Given the description of an element on the screen output the (x, y) to click on. 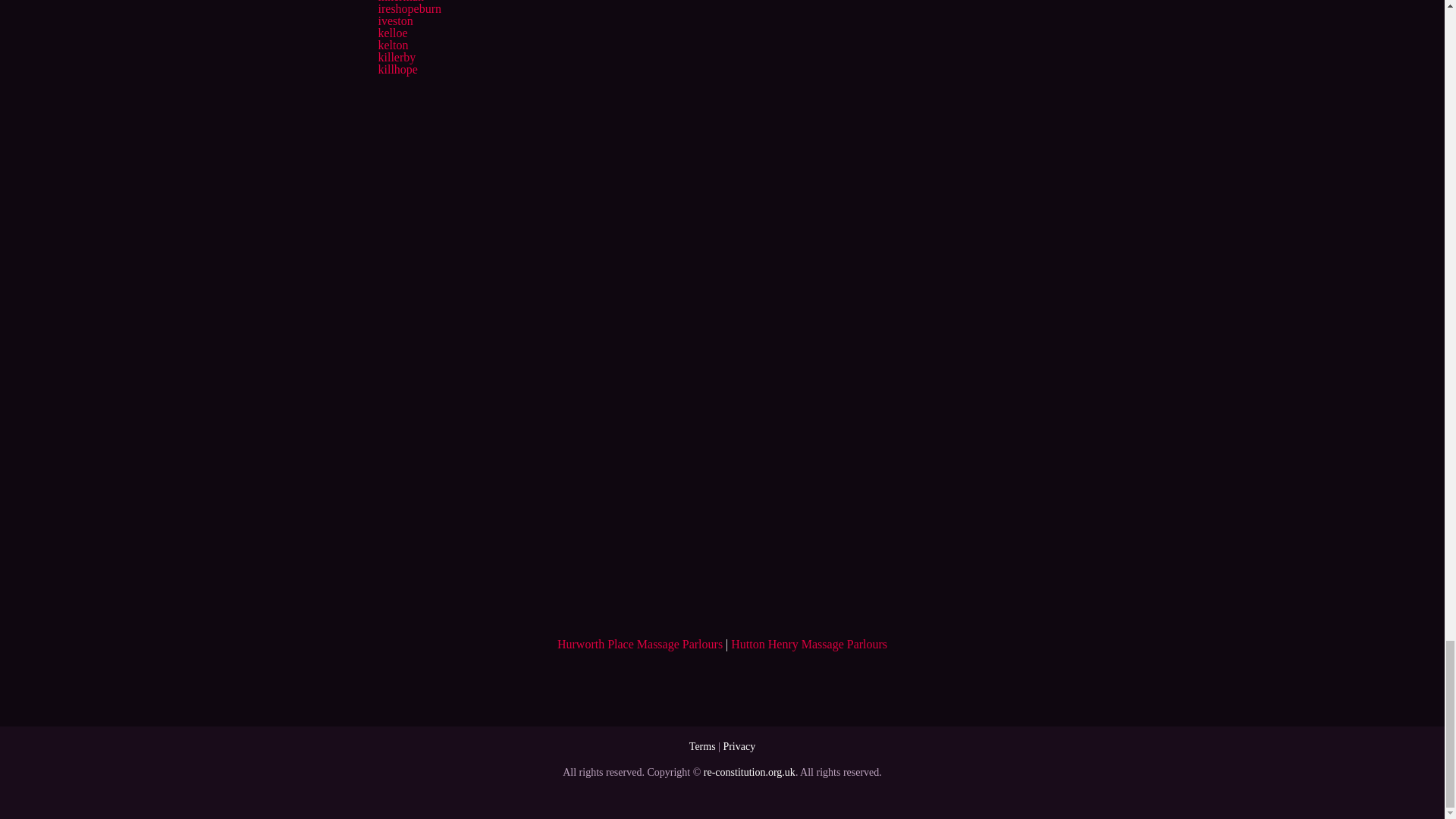
killhope (396, 69)
Hurworth Place Massage Parlours (639, 644)
kelloe (392, 32)
Terms (702, 746)
kelton (392, 44)
Hutton Henry Massage Parlours (808, 644)
inkerman (400, 1)
re-constitution.org.uk (748, 772)
Privacy (738, 746)
killerby (395, 56)
